Given the description of an element on the screen output the (x, y) to click on. 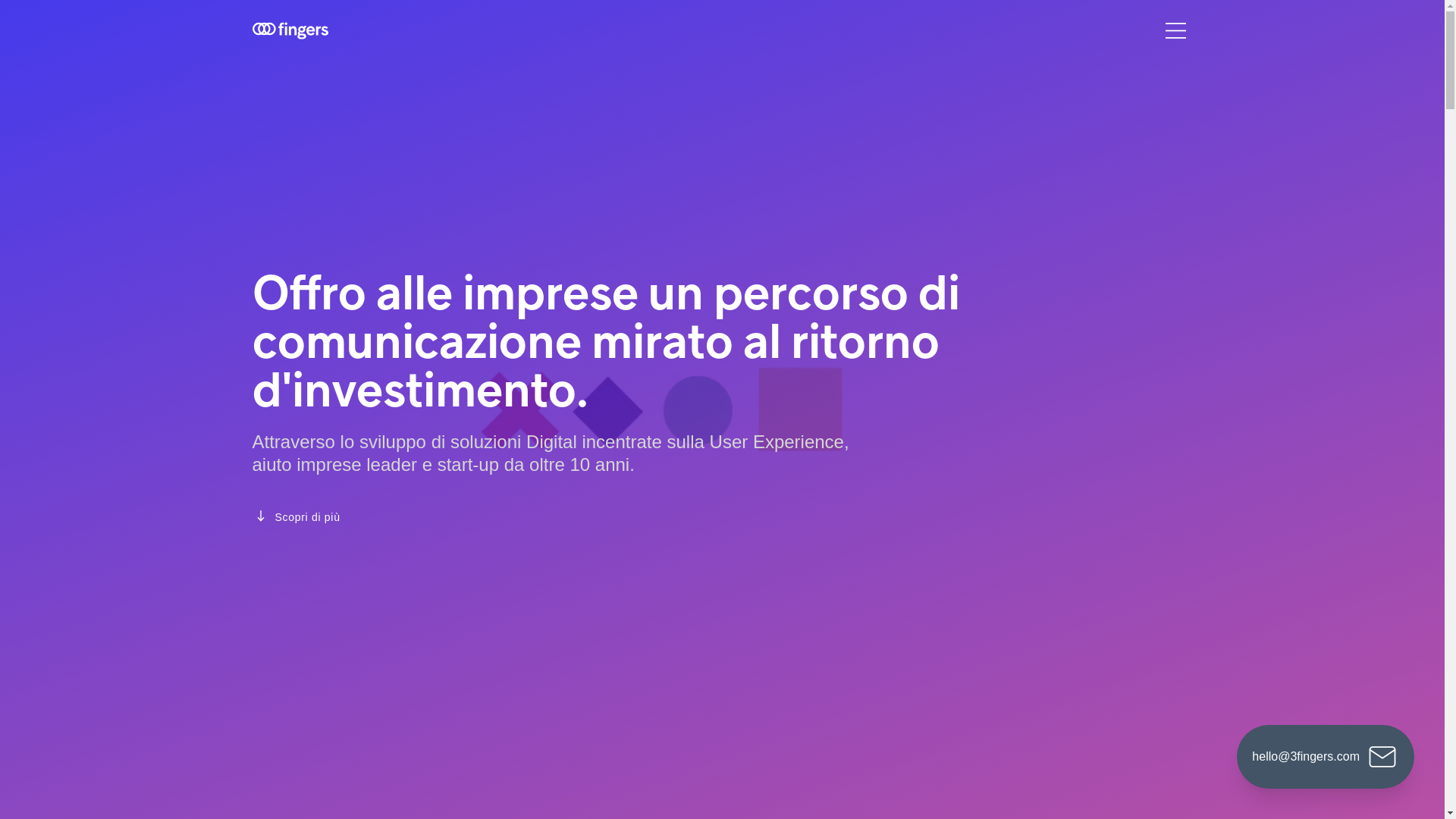
3fingers Element type: text (289, 29)
